Given the description of an element on the screen output the (x, y) to click on. 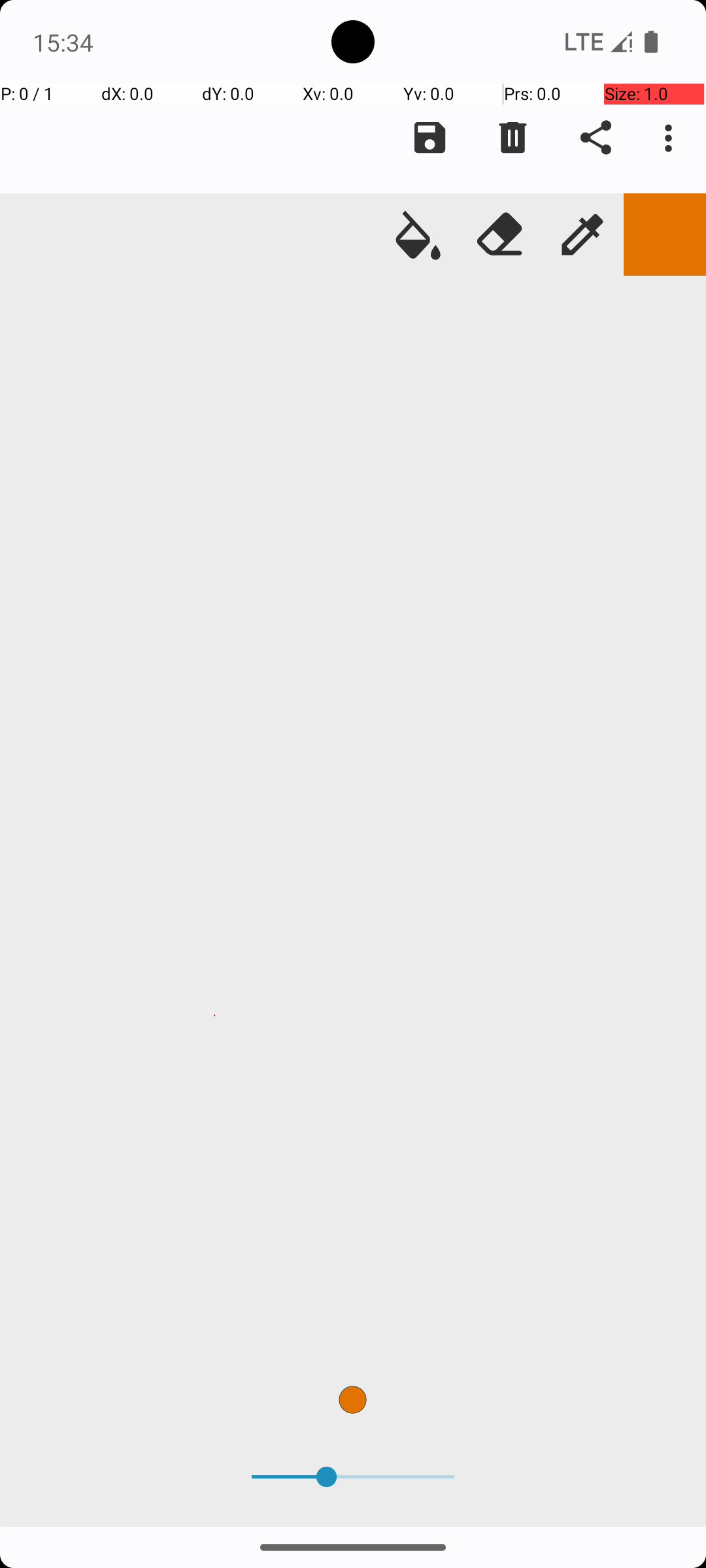
Clear Element type: android.widget.Button (512, 137)
Bucket fill Element type: android.widget.ImageView (417, 234)
Eraser Element type: android.widget.ImageView (499, 234)
Eyedropper Element type: android.widget.ImageView (582, 234)
Change color Element type: android.widget.ImageView (664, 234)
